Given the description of an element on the screen output the (x, y) to click on. 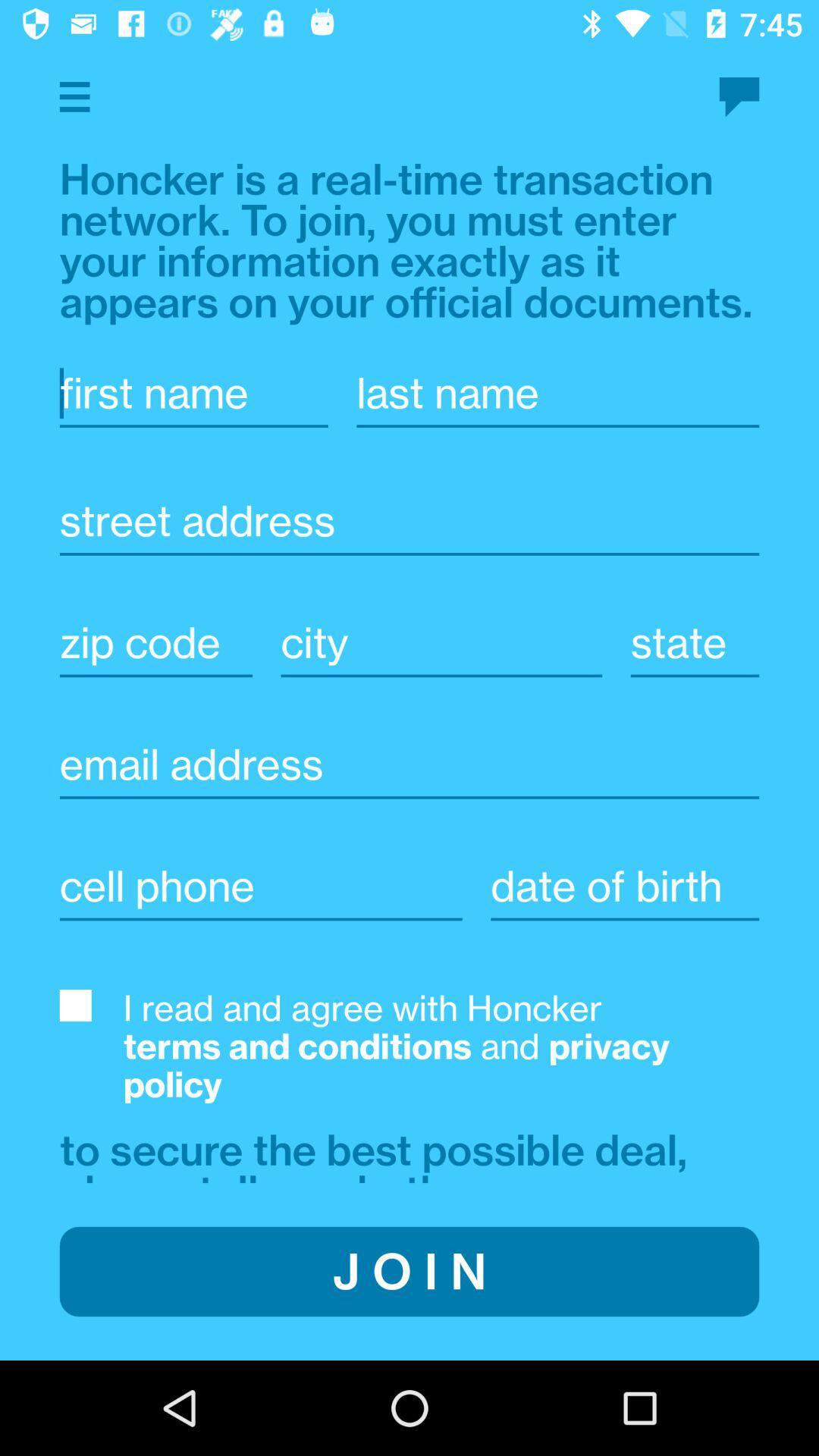
enter email address for account (409, 764)
